Given the description of an element on the screen output the (x, y) to click on. 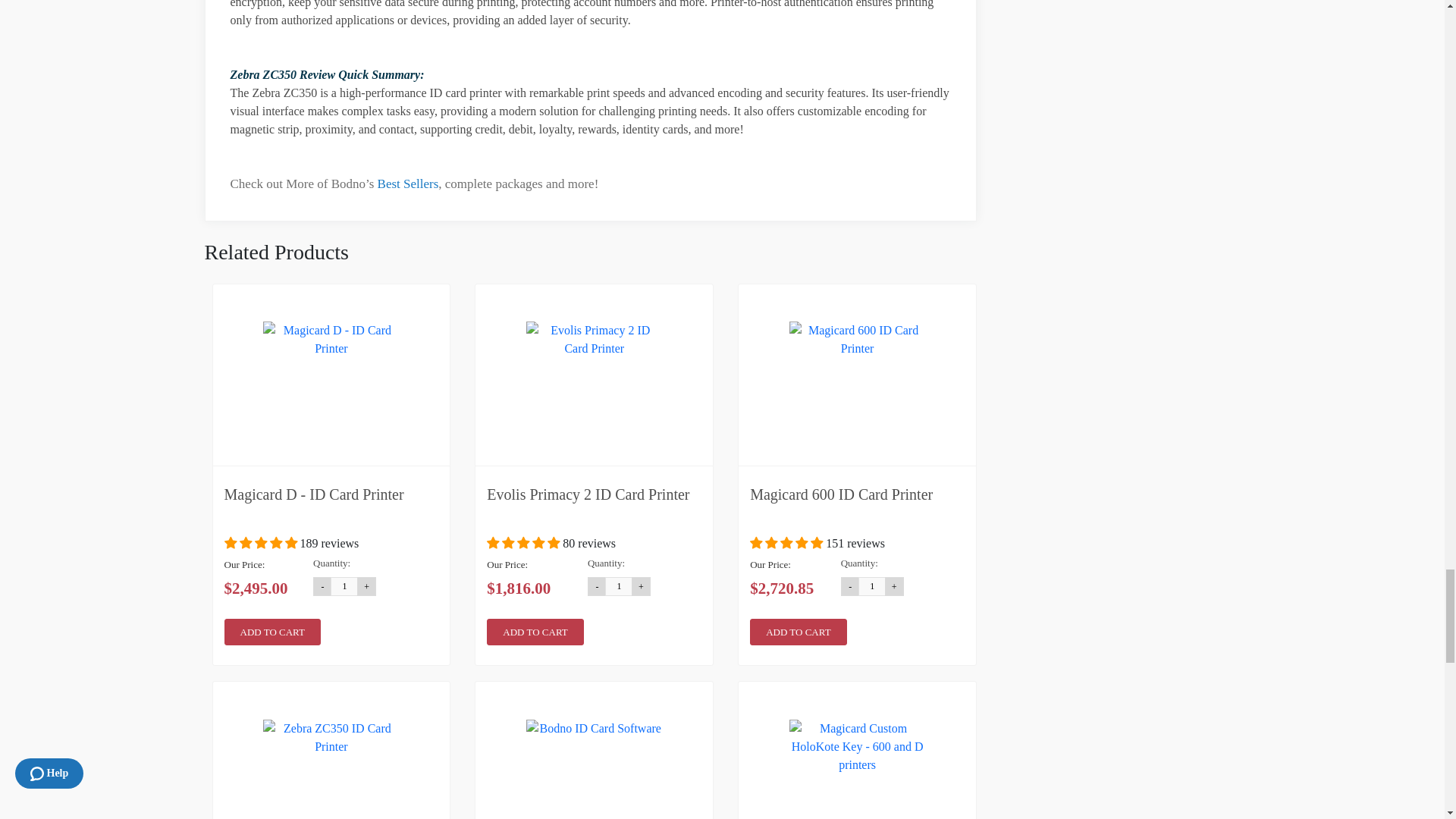
Qty (872, 586)
Qty (344, 586)
Qty (619, 586)
1 (344, 586)
1 (619, 586)
1 (872, 586)
